Given the description of an element on the screen output the (x, y) to click on. 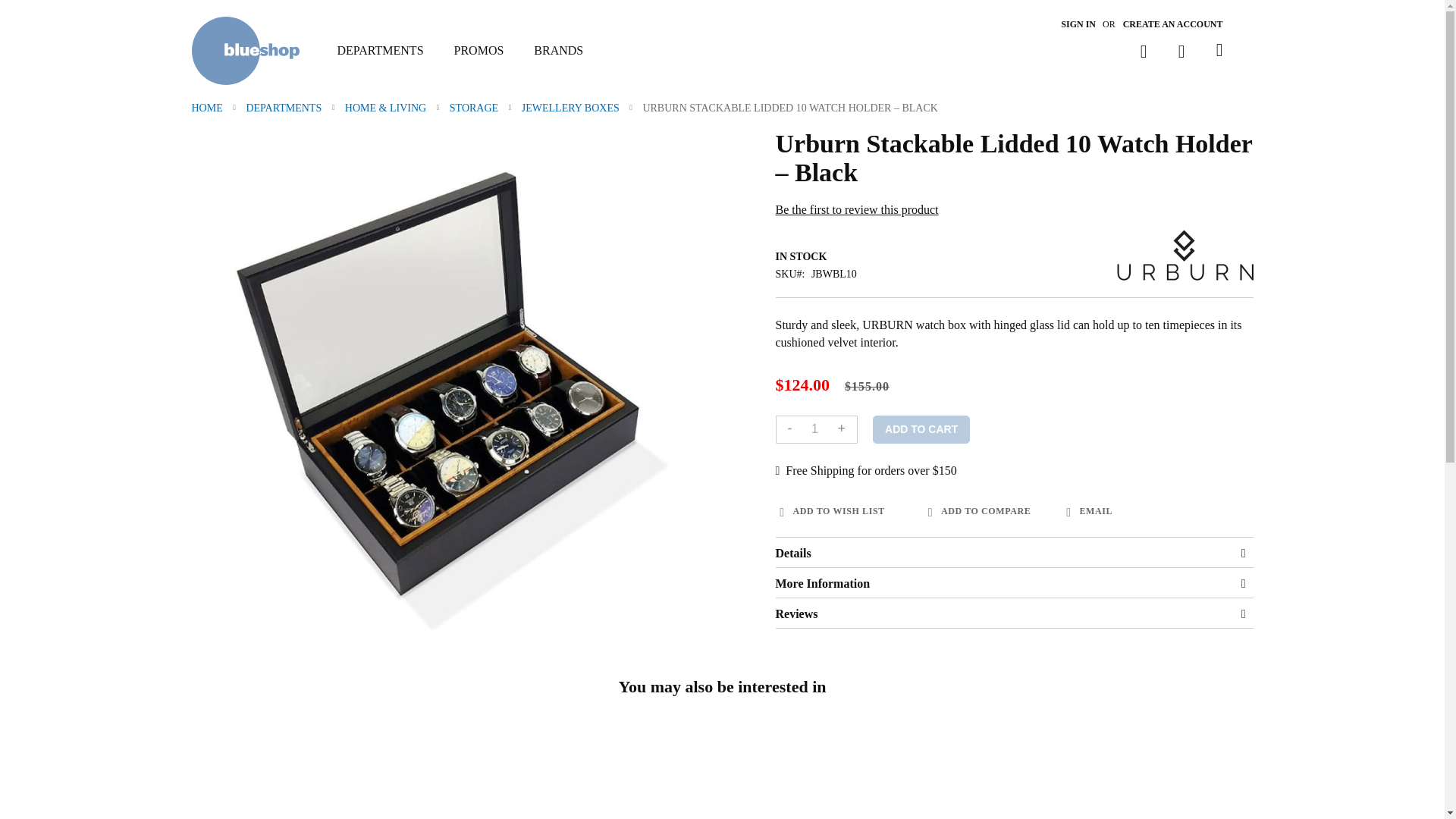
Qty (815, 429)
Jewellery Boxes (571, 107)
Departments (284, 107)
Availability (1013, 256)
1 (815, 429)
Add to Cart (920, 429)
DEPARTMENTS (387, 50)
Home (207, 107)
Urburn (1184, 256)
CREATE AN ACCOUNT (1172, 24)
